Given the description of an element on the screen output the (x, y) to click on. 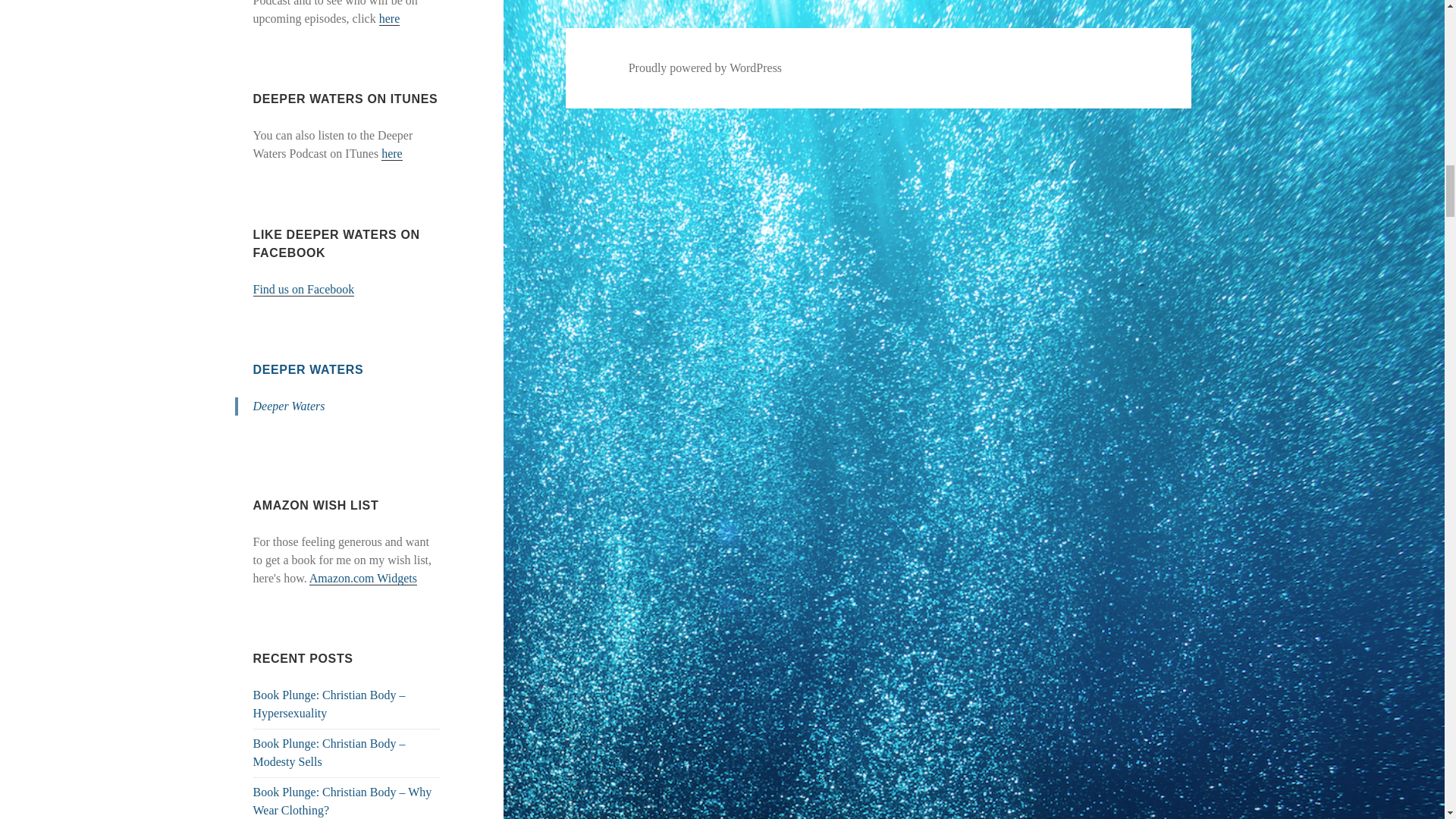
here (392, 153)
Find us on Facebook (304, 289)
DEEPER WATERS (308, 369)
Deeper Waters (288, 405)
here (389, 18)
Amazon.com Widgets (362, 578)
